Given the description of an element on the screen output the (x, y) to click on. 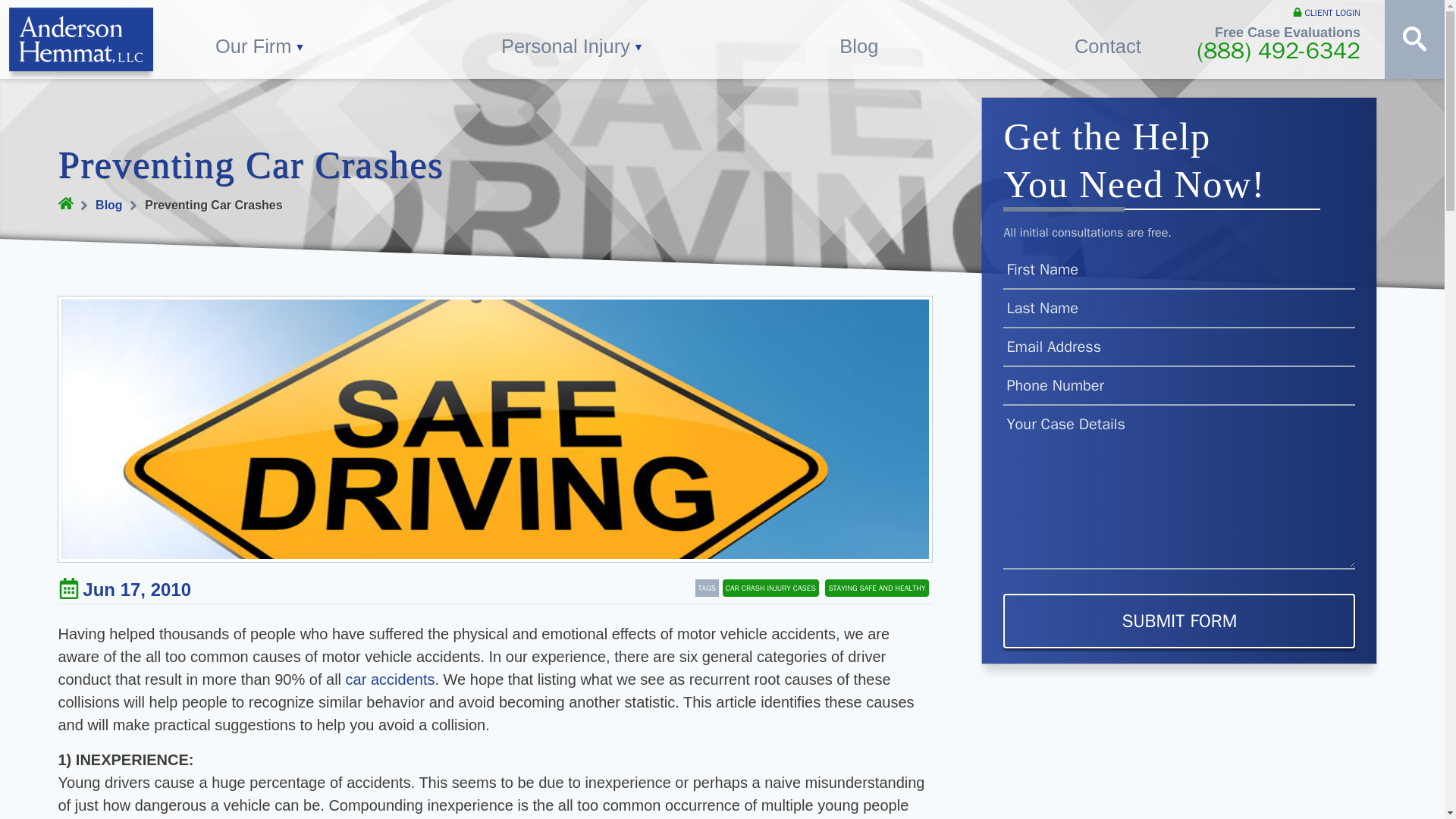
Personal Injury (572, 38)
Anderson Hemmat, LLC Logo (80, 39)
Our Firm (260, 38)
SUBMIT FORM (1179, 620)
